Given the description of an element on the screen output the (x, y) to click on. 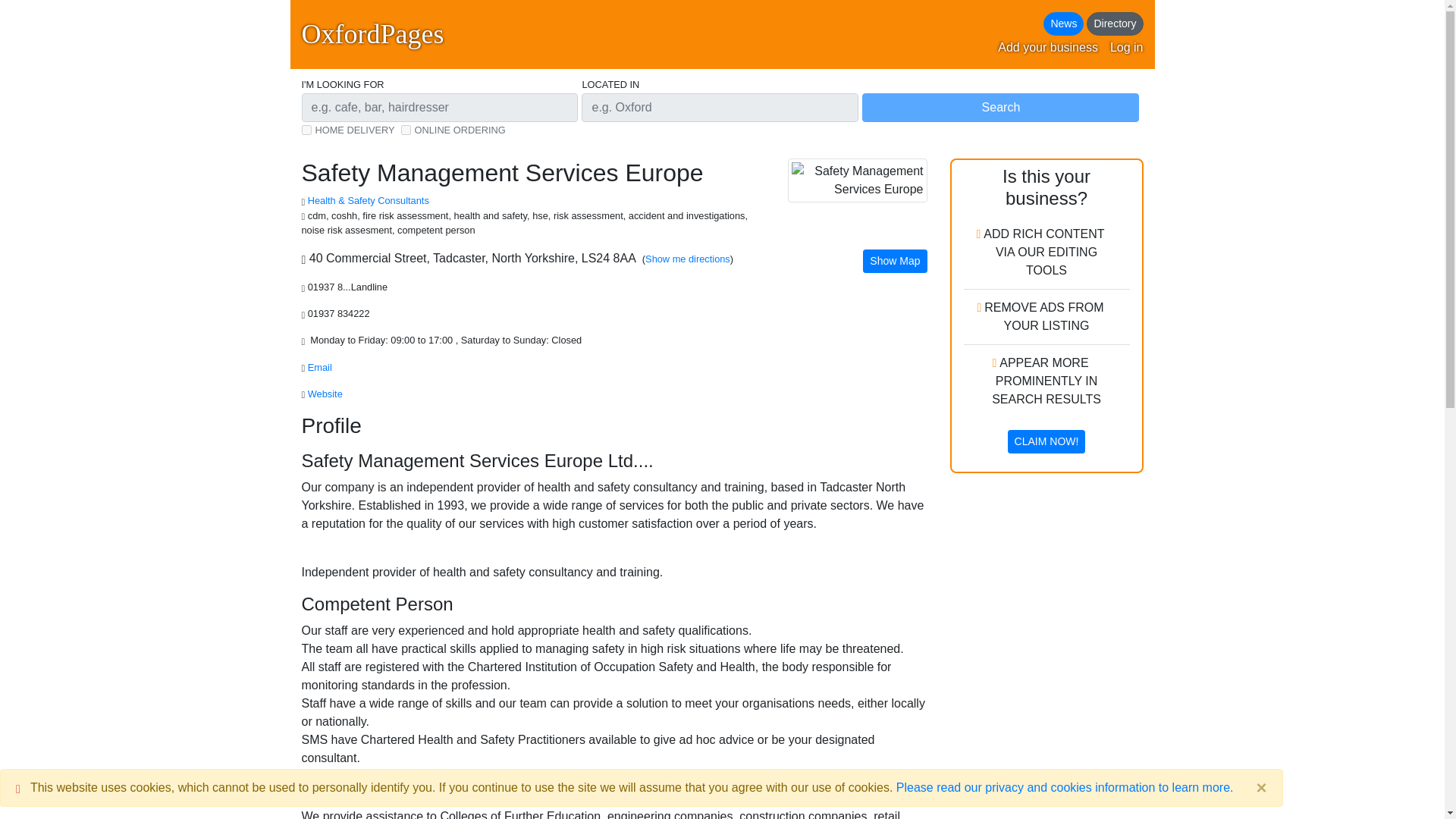
01937 8...Landline (348, 286)
News (1063, 24)
Log in (1125, 47)
Directory (1114, 24)
CLAIM NOW! (1046, 441)
Search (999, 107)
Show me directions (687, 258)
Show Map (894, 260)
OxfordPages (372, 34)
Email (319, 367)
click to show number (339, 313)
show me more (368, 200)
click to show number (348, 286)
Website (326, 393)
